Given the description of an element on the screen output the (x, y) to click on. 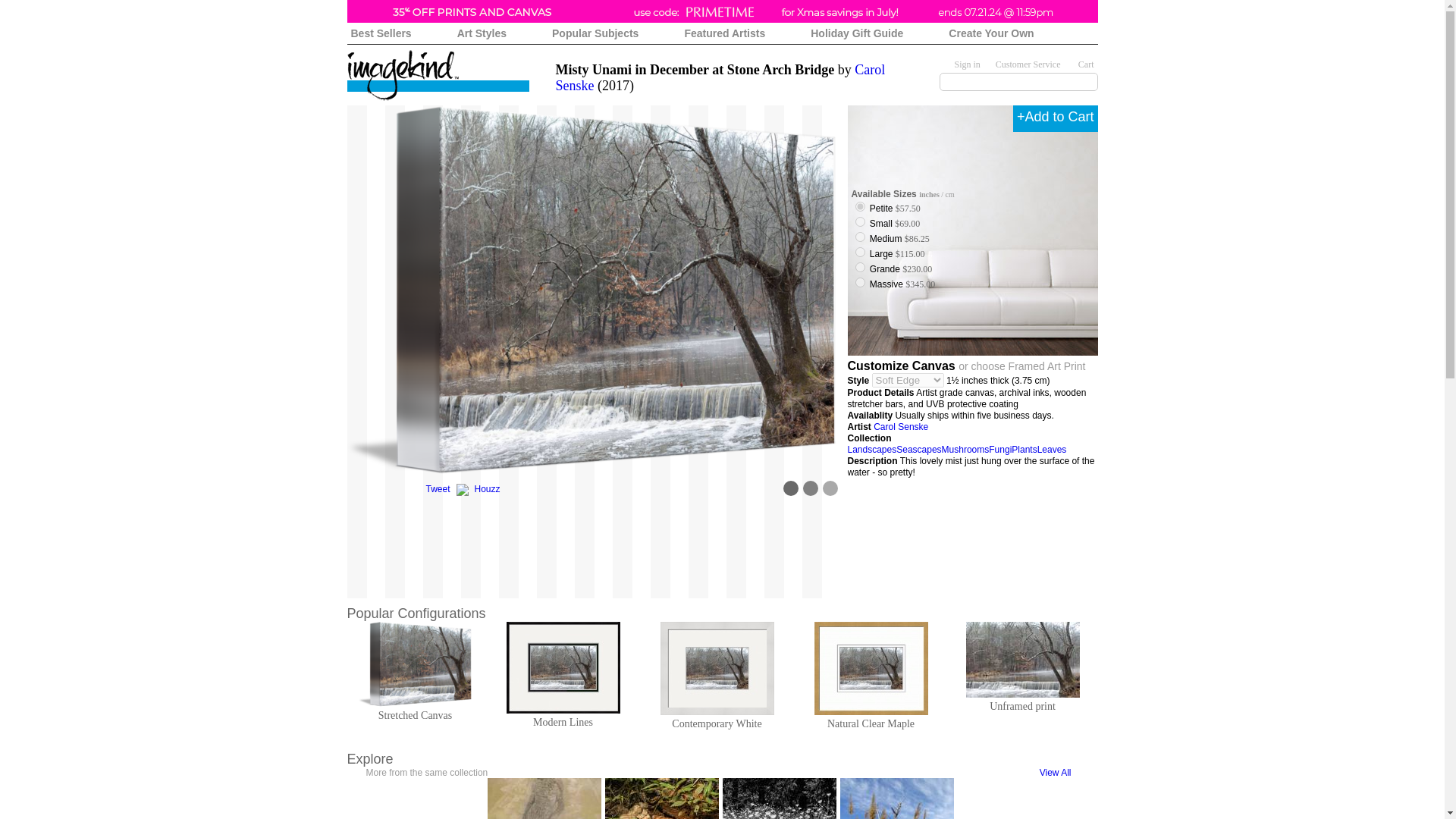
"Springtime Arrives" by MotherNature1 (544, 798)
Art Styles (481, 32)
"Coastal New England Marsh Landscape" by MotherNature1 (896, 798)
on (860, 236)
Popular Subjects (595, 32)
"DyemakersPolyporePhaeolusschweinitziiwit" by MotherNature1 (662, 798)
on (860, 252)
on (860, 266)
on (860, 206)
on (860, 221)
on (860, 282)
Best Sellers (380, 32)
"Buttercups in Black and White" by MotherNature1 (778, 798)
